Given the description of an element on the screen output the (x, y) to click on. 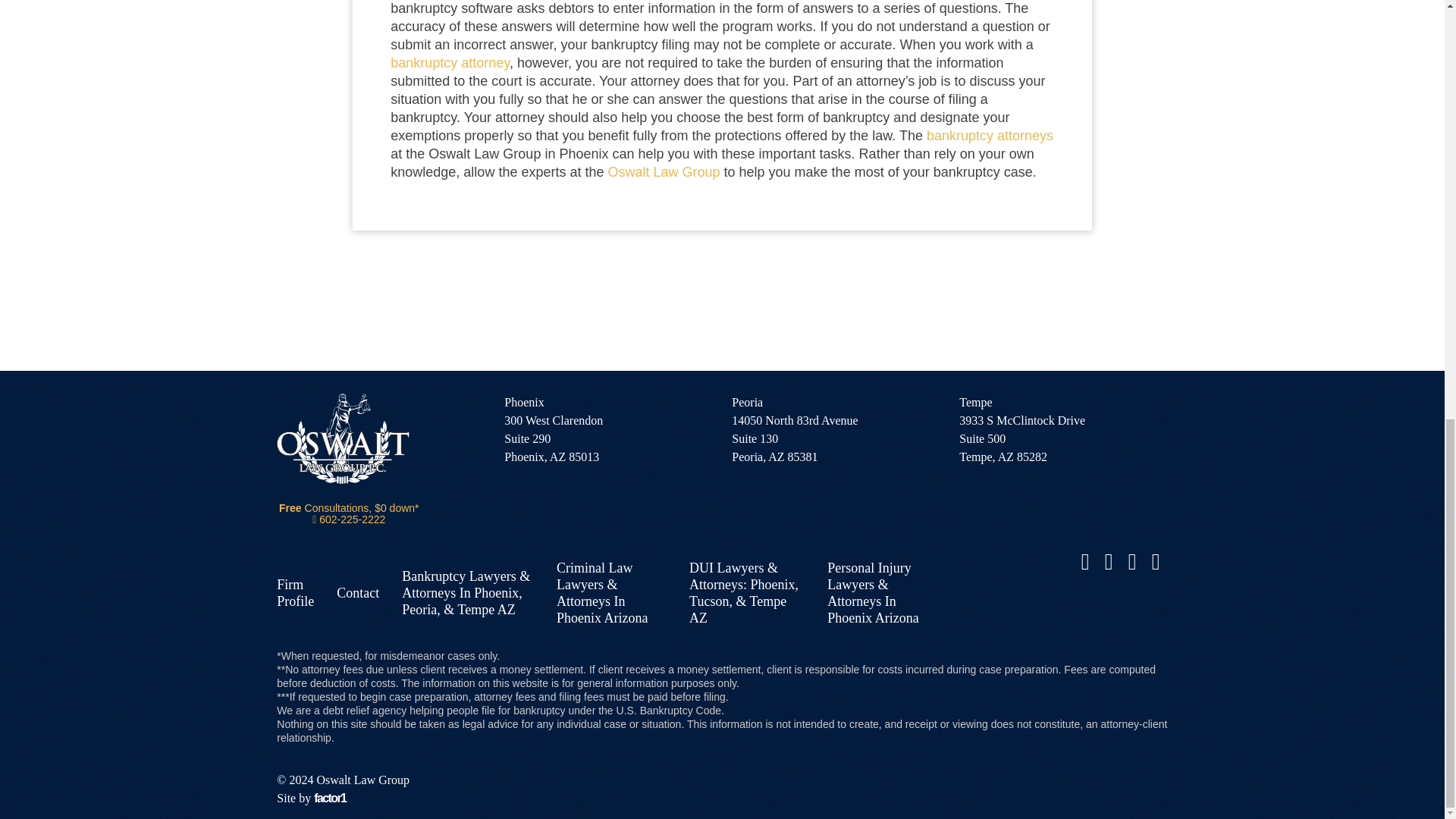
bankruptcy attorneys (989, 135)
bankruptcy attorney (449, 62)
Oswalt Law Group (663, 171)
